Given the description of an element on the screen output the (x, y) to click on. 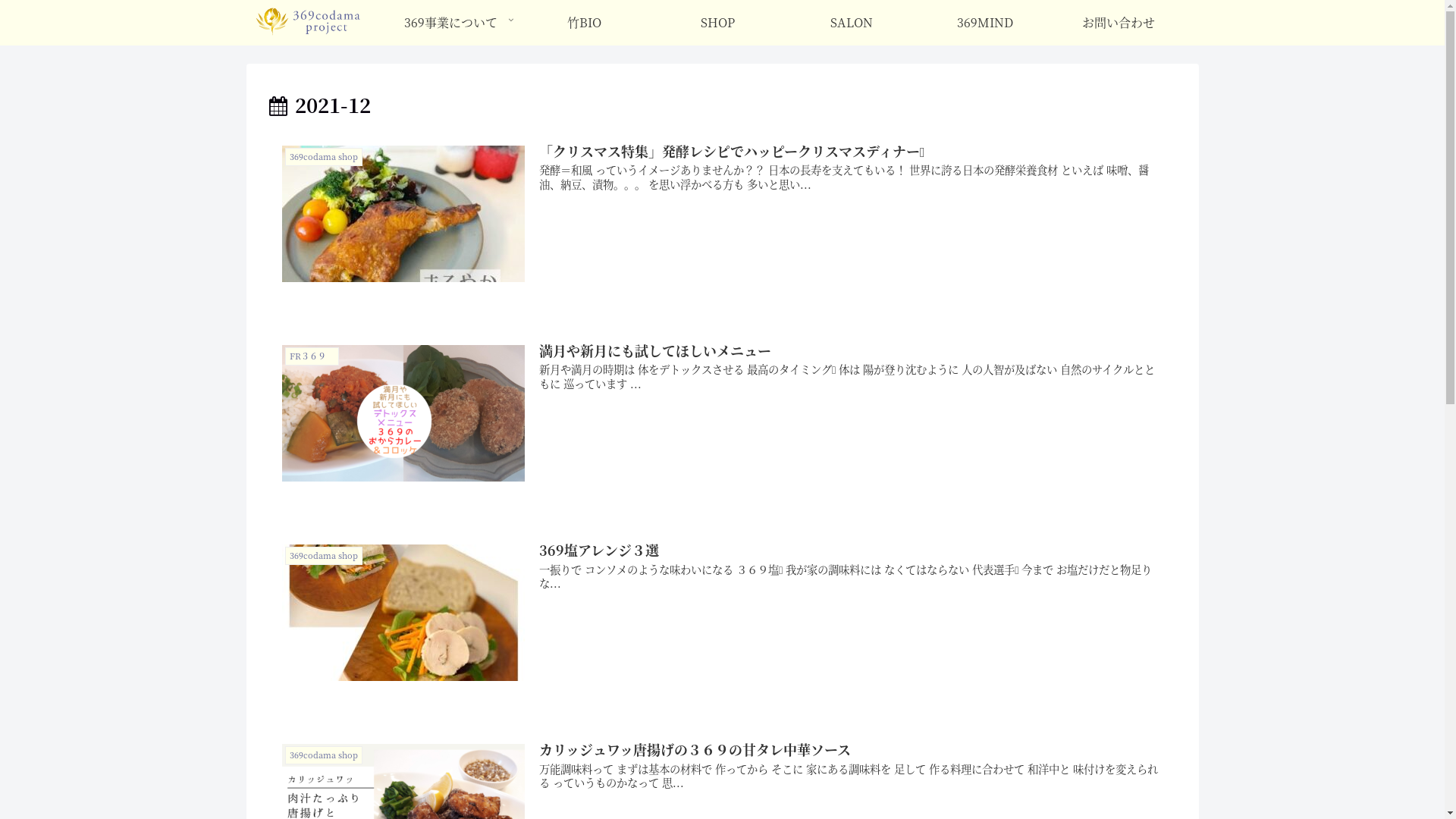
SHOP Element type: text (717, 23)
369MIND Element type: text (984, 23)
SALON Element type: text (851, 23)
